Given the description of an element on the screen output the (x, y) to click on. 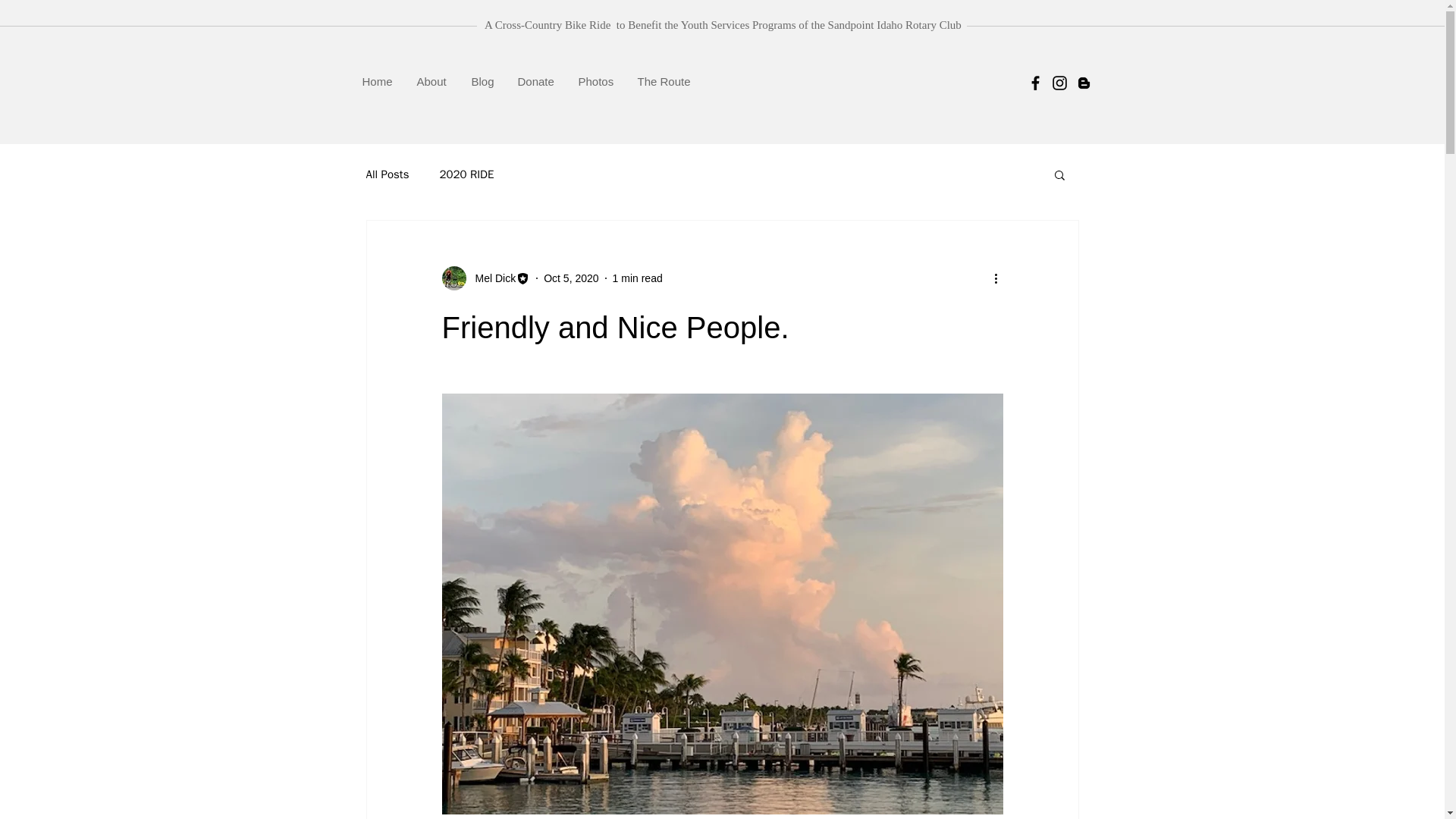
1 min read (637, 277)
Mel Dick (490, 277)
The Route (663, 81)
Photos (596, 81)
All Posts (387, 173)
Blog (482, 81)
About (432, 81)
Donate (536, 81)
Home (377, 81)
2020 RIDE (466, 173)
Oct 5, 2020 (570, 277)
